Given the description of an element on the screen output the (x, y) to click on. 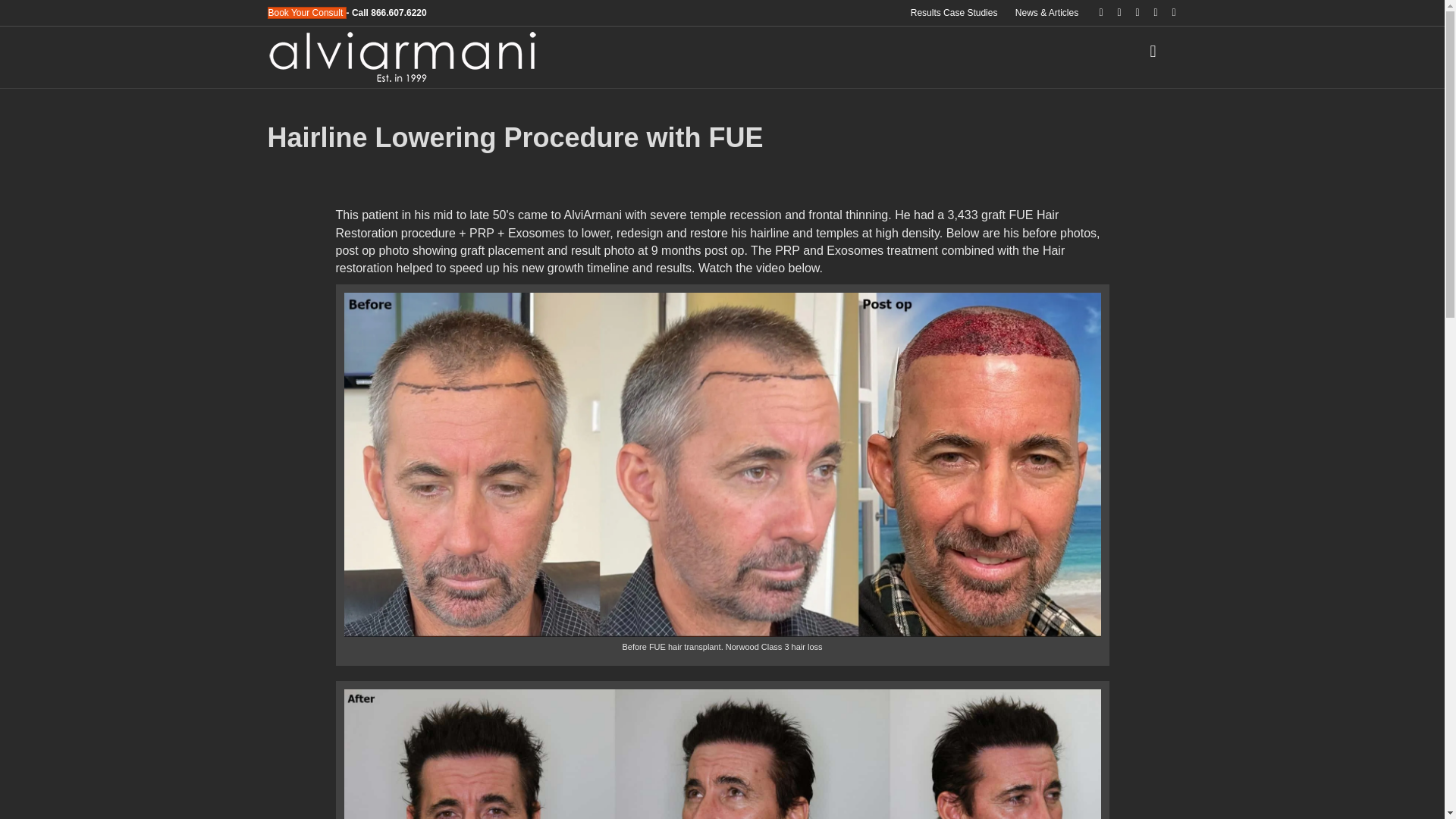
Results Case Studies (954, 13)
866.607.6220 (398, 12)
Instagram (1147, 11)
Twitter (1111, 11)
Youtube (1129, 11)
Blogger (1165, 11)
Book Your Consult (306, 12)
Facebook (1093, 11)
